Given the description of an element on the screen output the (x, y) to click on. 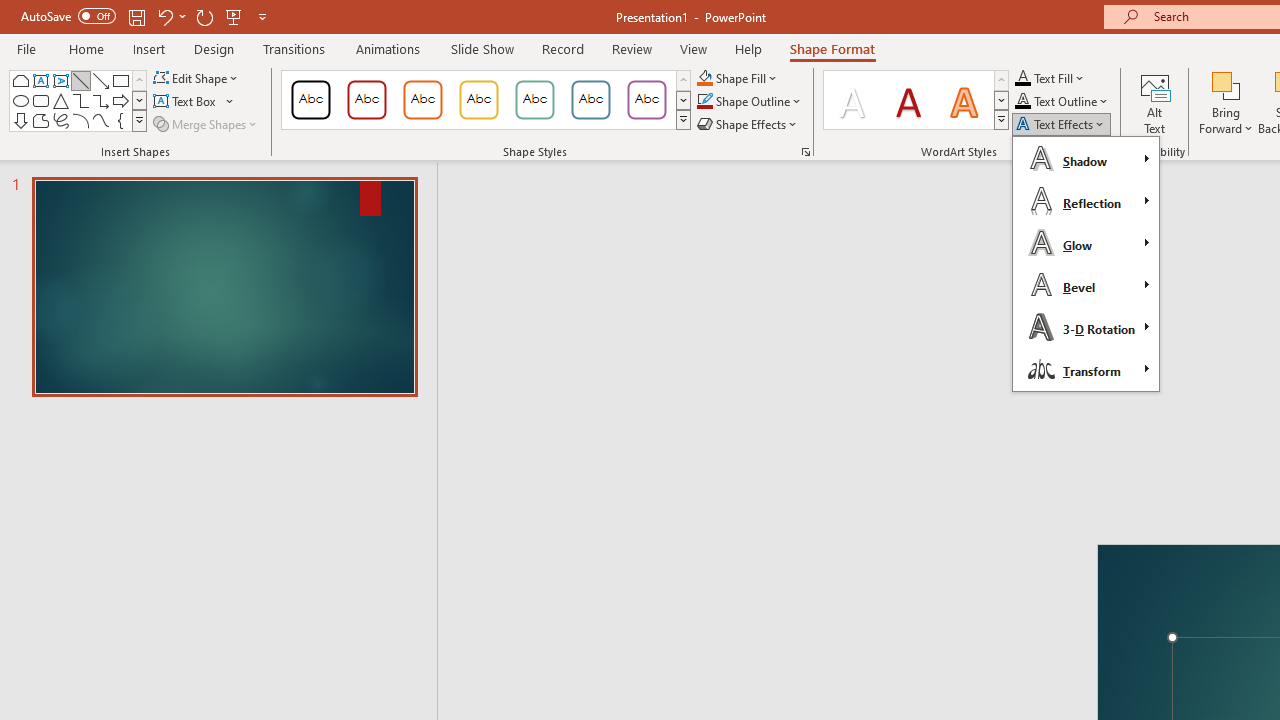
Merge Shapes (206, 124)
Colored Outline - Black, Dark 1 (310, 100)
Colored Outline - Orange, Accent 2 (422, 100)
T&ext Effects (1085, 263)
